Given the description of an element on the screen output the (x, y) to click on. 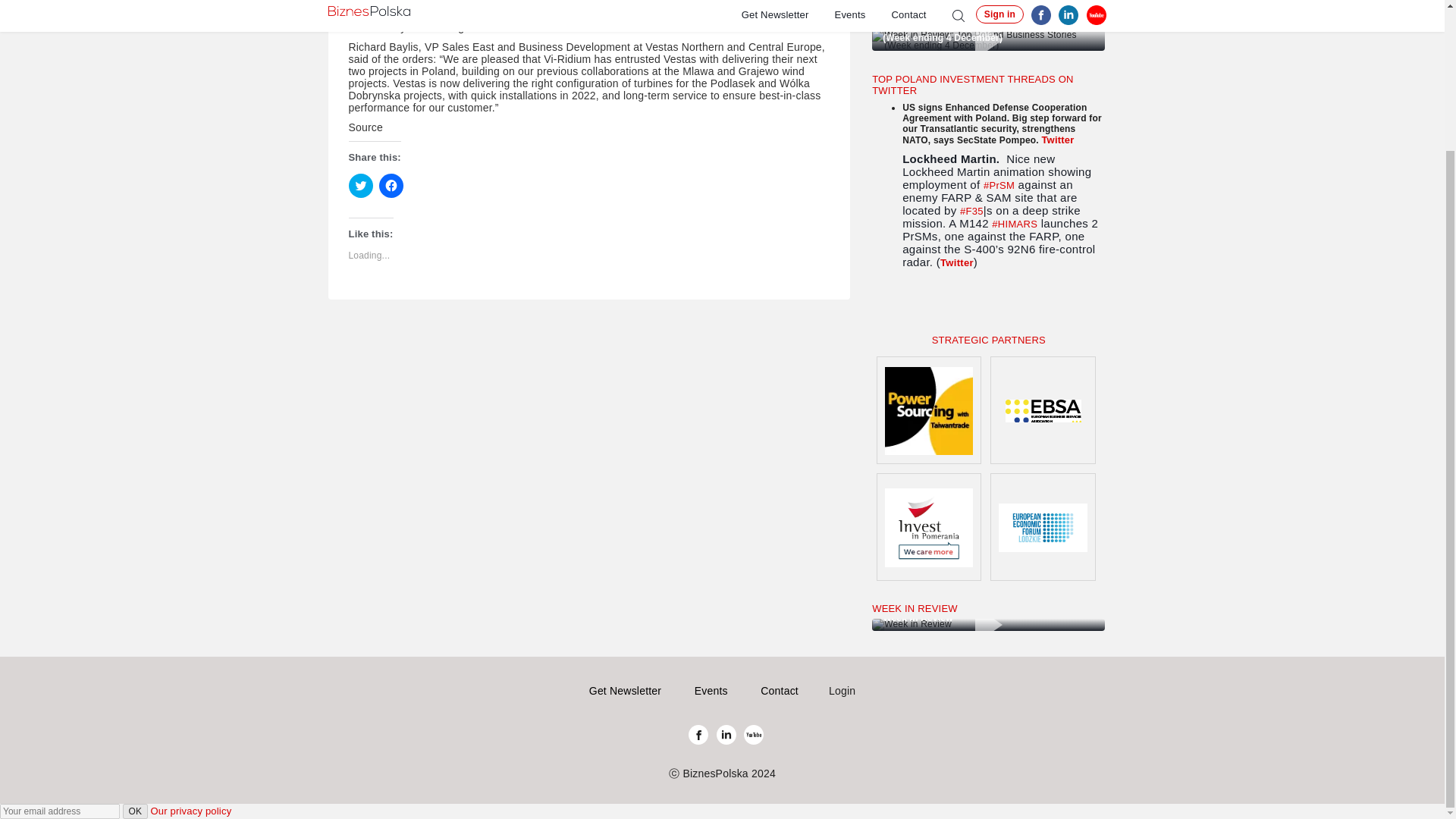
Twitter (1057, 139)
Get Newsletter (625, 690)
Get Newsletter (625, 690)
Contact (778, 690)
Click to share on Twitter (360, 185)
Contact (778, 690)
SIGN UP (911, 306)
Events (711, 690)
Source (366, 127)
Click to share on Facebook (390, 185)
Twitter (957, 262)
Login (841, 690)
Events (711, 690)
Week in Review (988, 624)
